Given the description of an element on the screen output the (x, y) to click on. 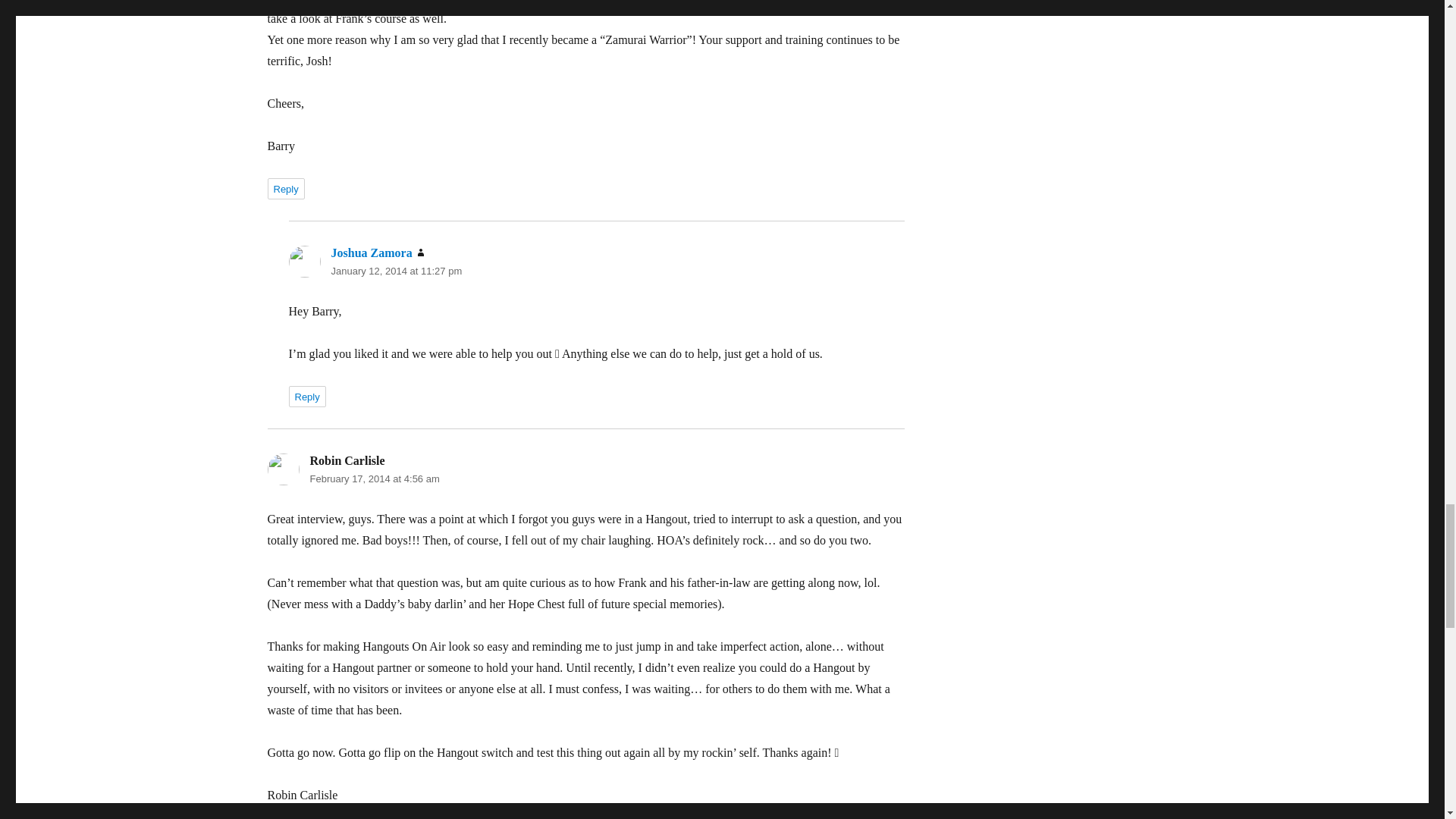
Reply (306, 396)
Joshua Zamora (371, 252)
Reply (285, 188)
January 12, 2014 at 11:27 pm (395, 270)
